Given the description of an element on the screen output the (x, y) to click on. 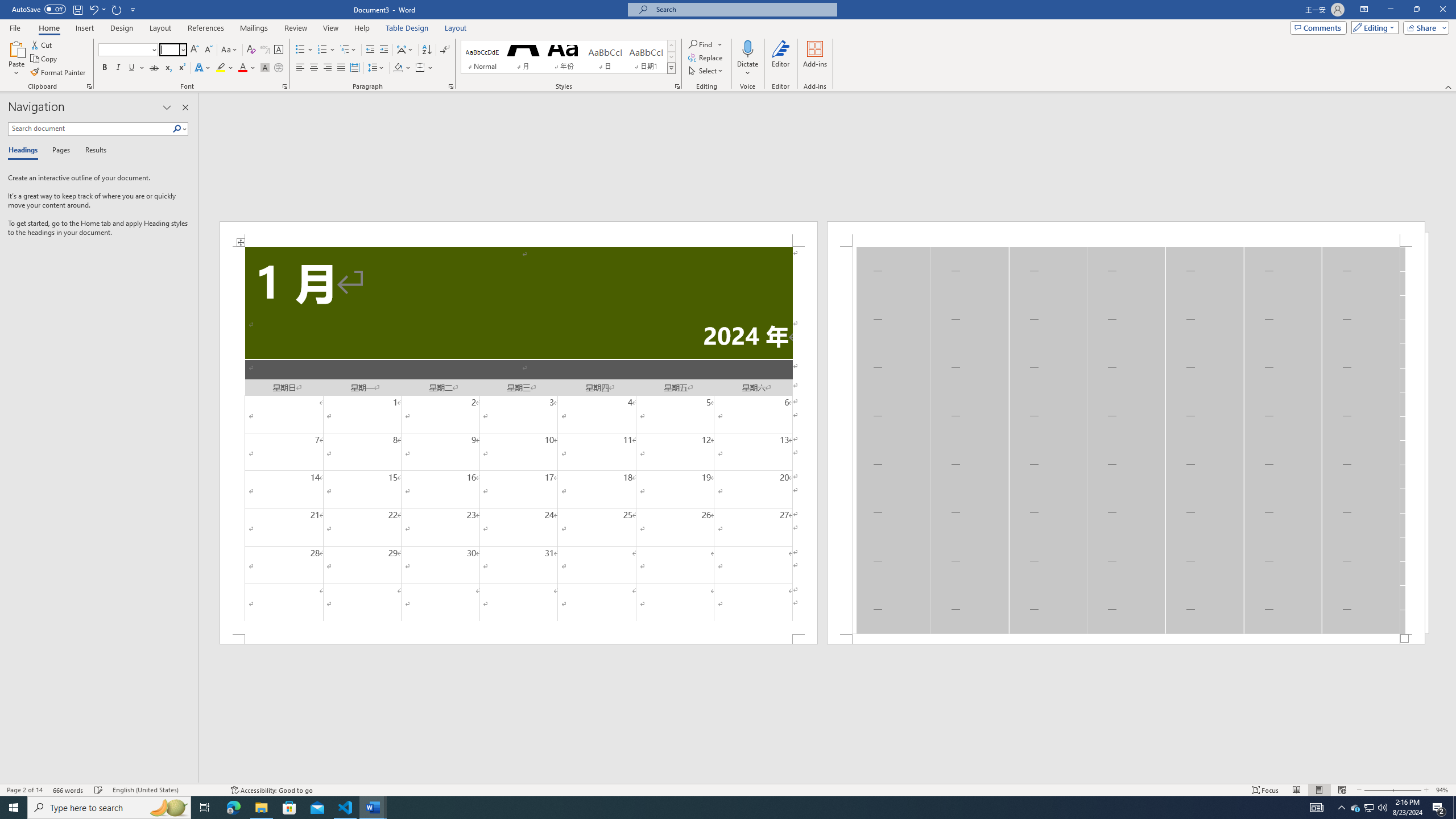
Word Count 666 words (68, 790)
